Given the description of an element on the screen output the (x, y) to click on. 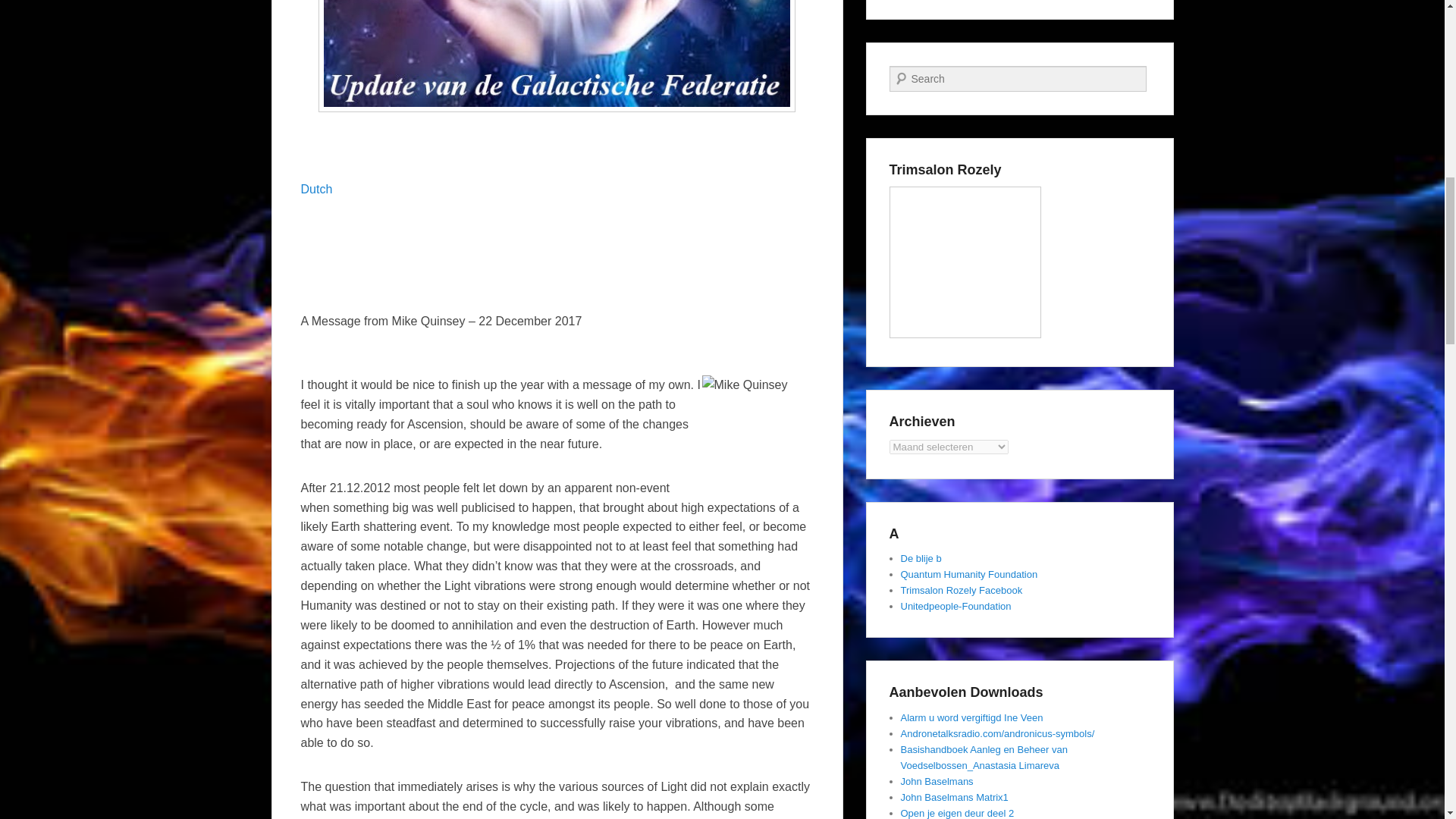
nog niet actief (969, 573)
Trimsalon Rozely (964, 262)
